Given the description of an element on the screen output the (x, y) to click on. 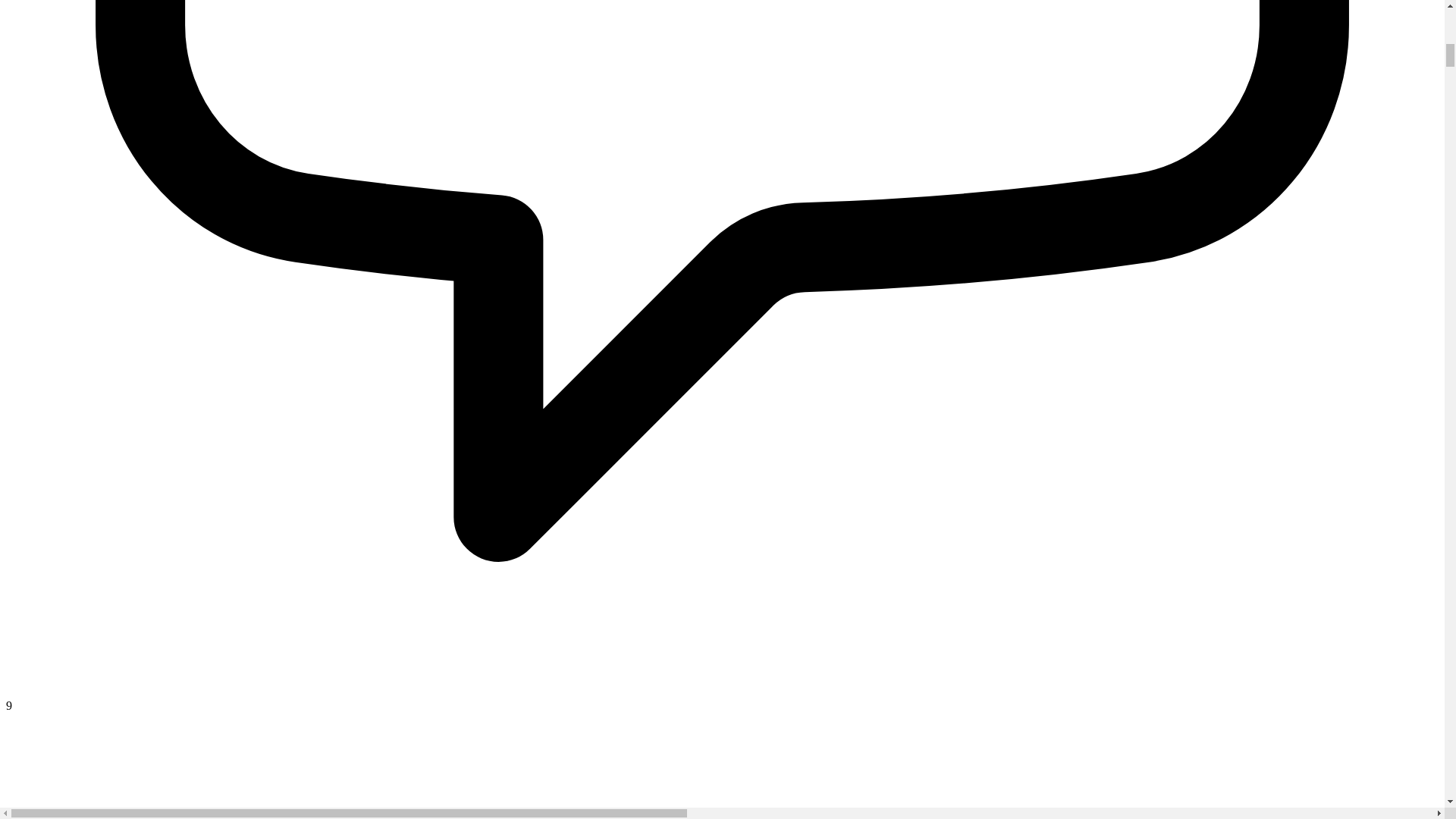
9 (721, 698)
